Given the description of an element on the screen output the (x, y) to click on. 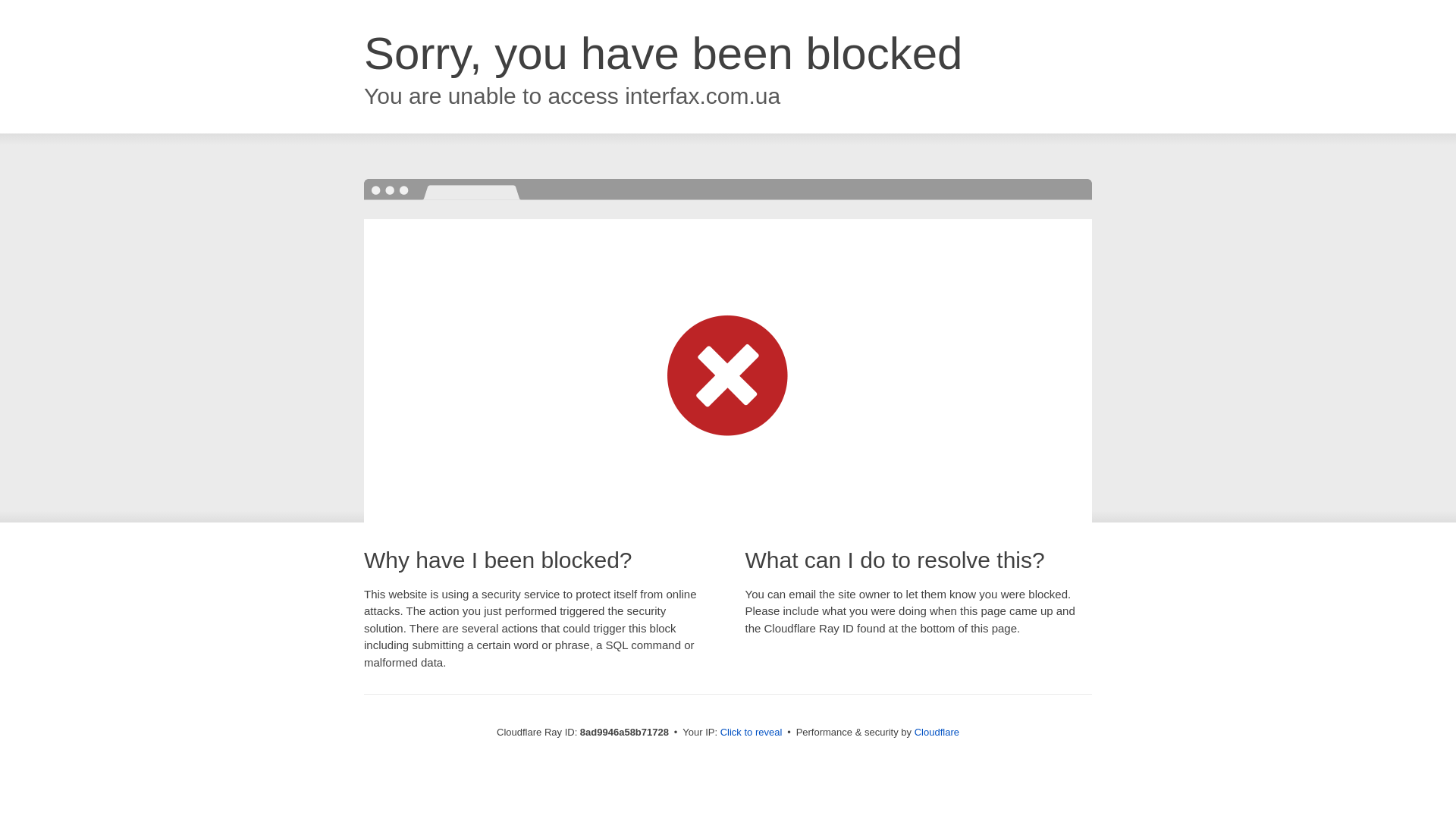
Click to reveal (751, 732)
Cloudflare (936, 731)
